Given the description of an element on the screen output the (x, y) to click on. 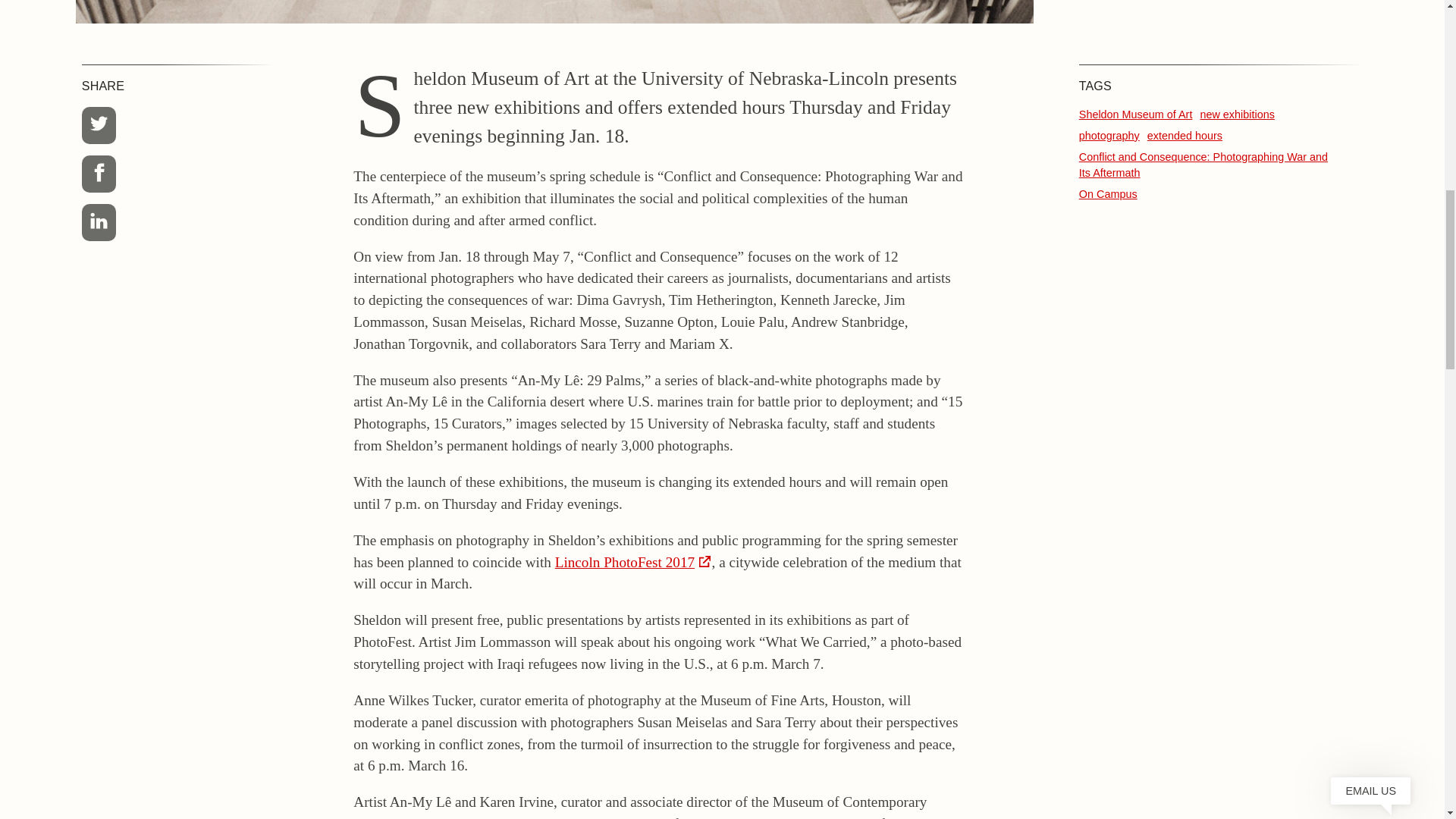
On Campus (1107, 193)
photography (1109, 135)
Sheldon Museum of Art (1135, 114)
extended hours (1185, 135)
Lincoln PhotoFest 2017 (632, 562)
new exhibitions (1236, 114)
